Given the description of an element on the screen output the (x, y) to click on. 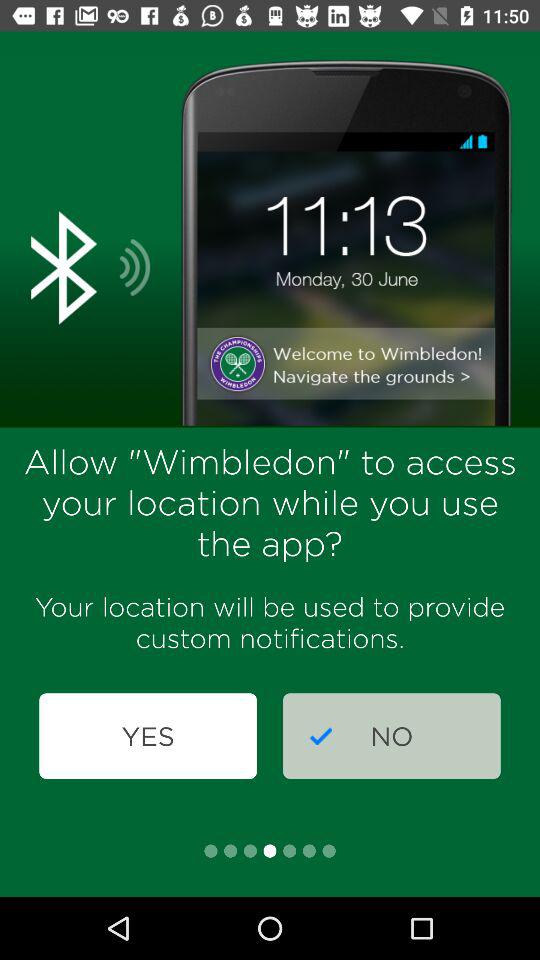
tap item below your location will item (147, 735)
